Given the description of an element on the screen output the (x, y) to click on. 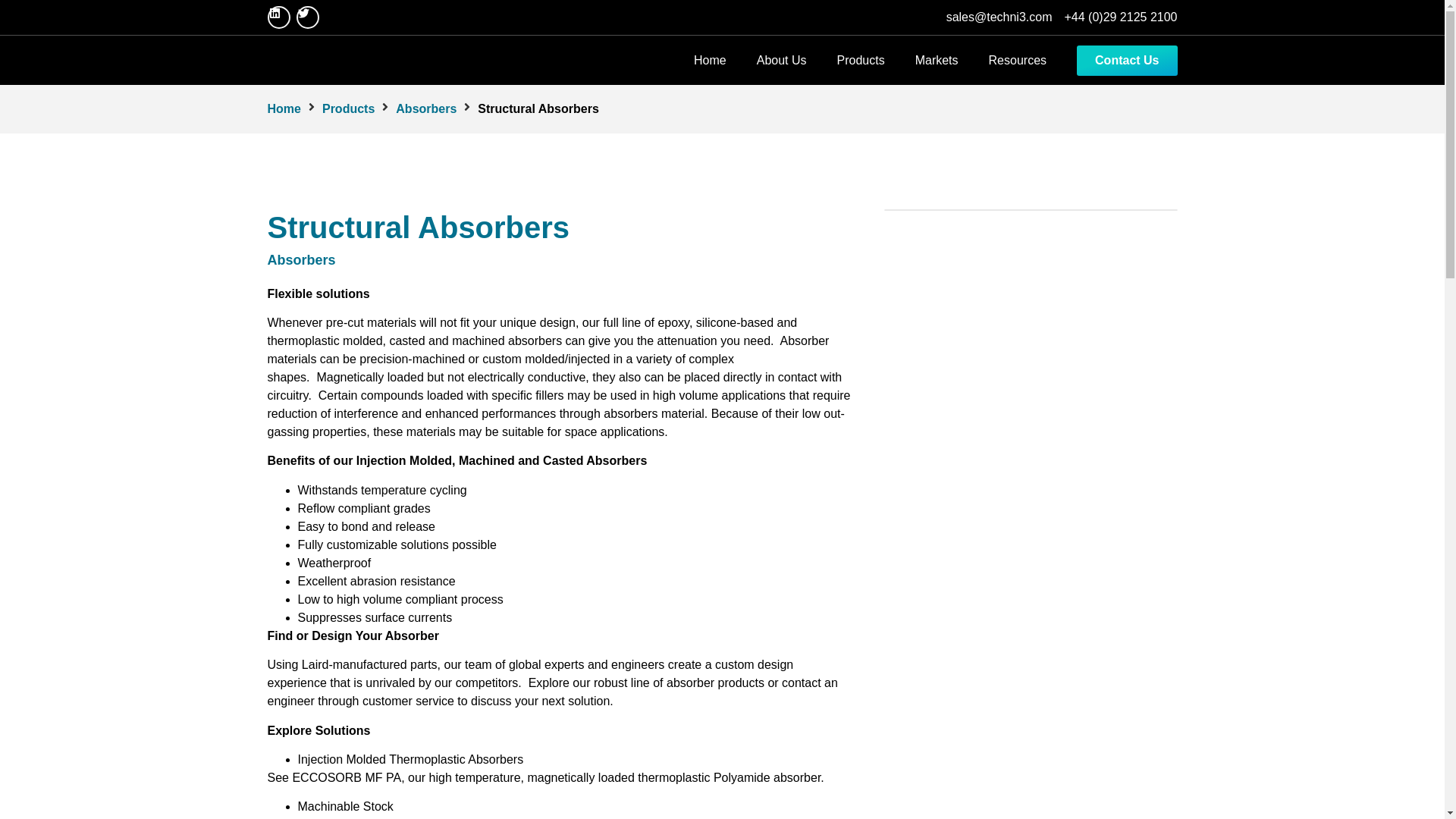
Absorbers (426, 108)
Resources (1017, 59)
Markets (936, 59)
About Us (781, 59)
Products (860, 59)
Home (709, 59)
Home (282, 108)
Products (347, 108)
